Given the description of an element on the screen output the (x, y) to click on. 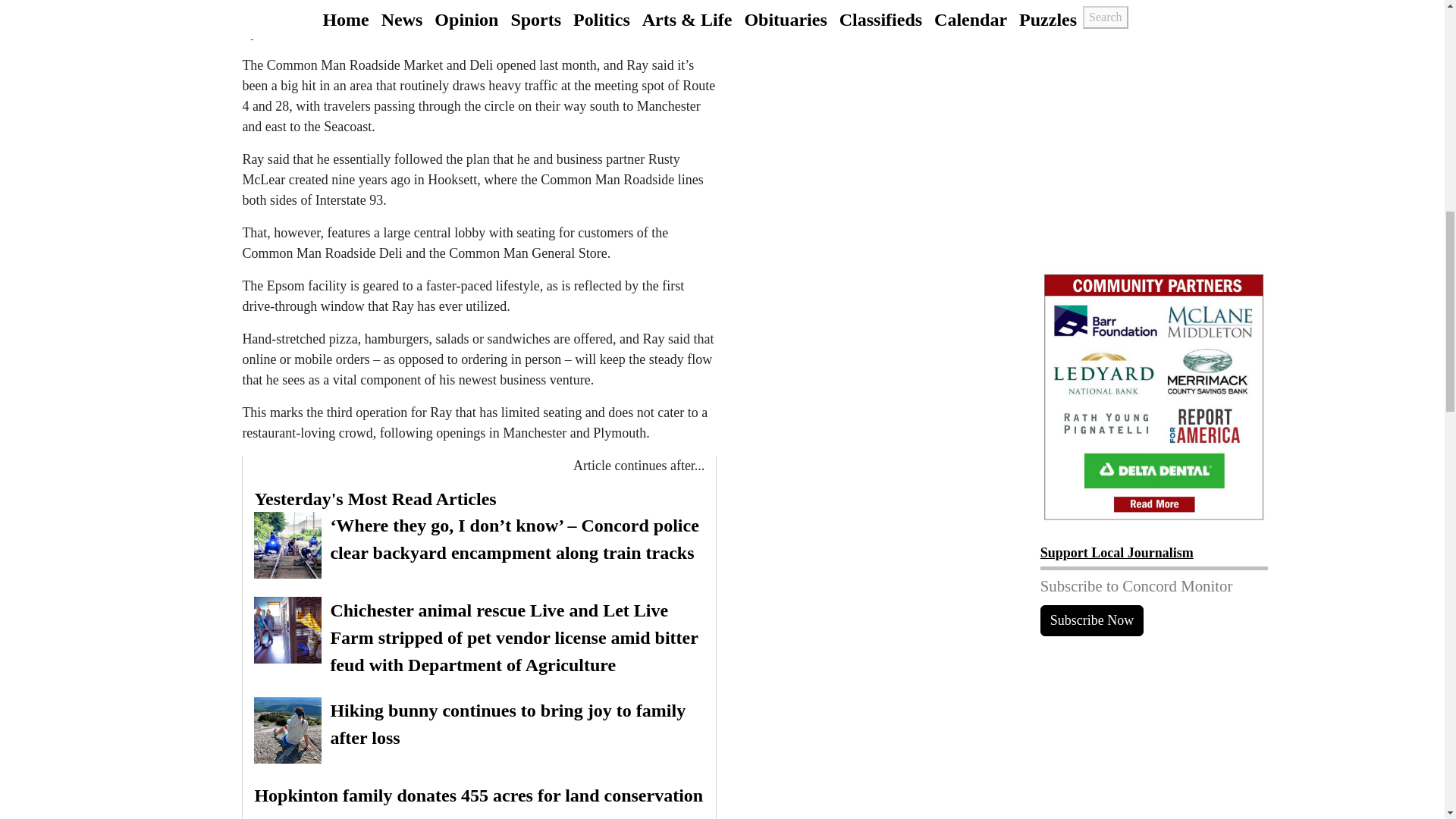
Hopkinton family donates 455 acres for land conservation (478, 795)
Hiking bunny continues to bring joy to family after loss (478, 729)
